Given the description of an element on the screen output the (x, y) to click on. 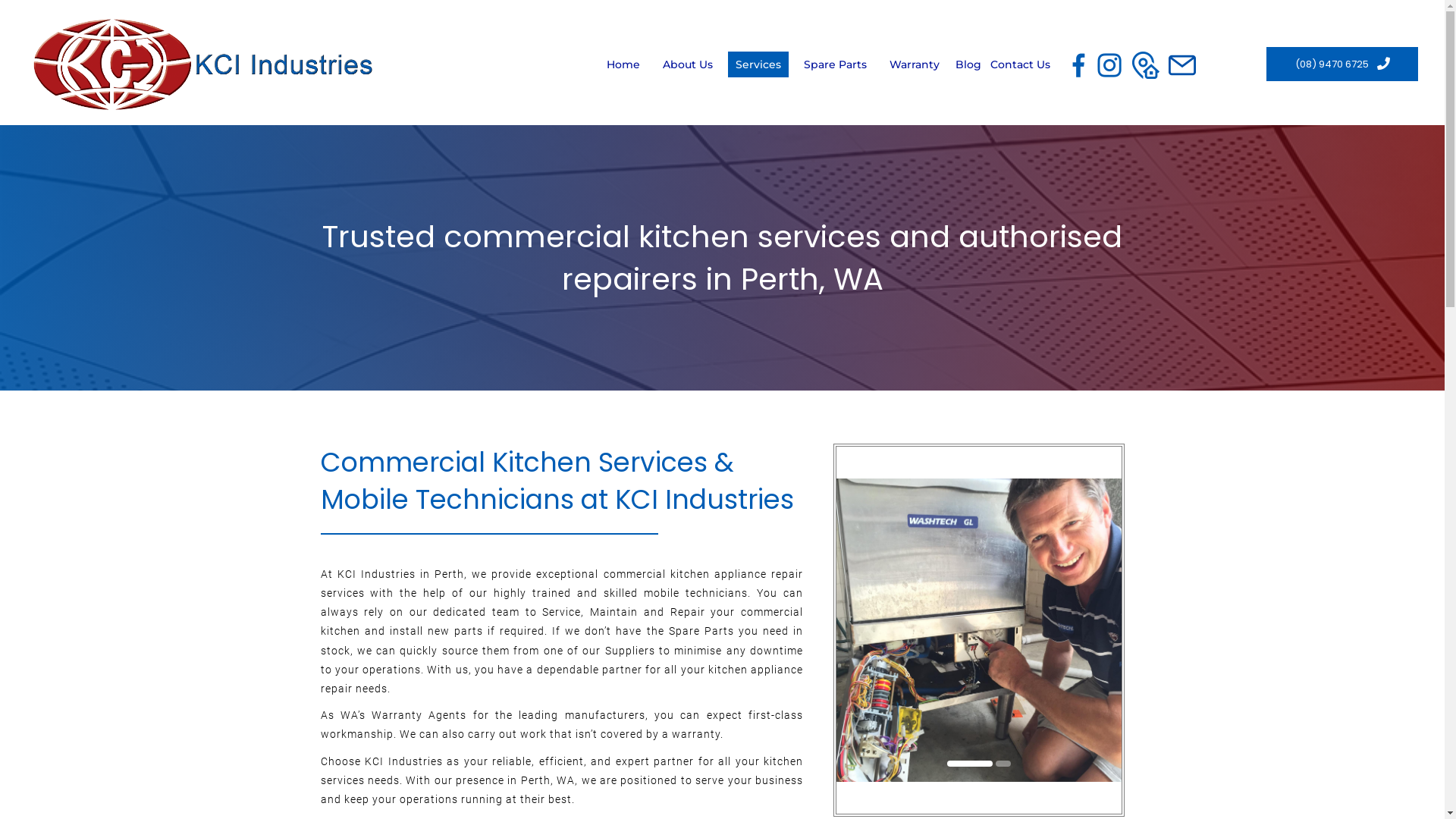
(08) 9470 6725 Element type: text (1342, 64)
  Element type: text (666, 630)
Logo-name-blue (1) Element type: hover (202, 64)
Services Element type: text (758, 64)
KCI Industries Element type: text (403, 761)
Contact Us Element type: text (1019, 64)
presence in Perth, WA, Element type: text (516, 780)
Warranty Element type: text (914, 64)
Home Element type: text (623, 64)
Spare Parts Element type: text (701, 630)
Blog Element type: text (967, 64)
dependable partner Element type: text (589, 669)
About Us Element type: text (687, 64)
Spare Parts Element type: text (835, 64)
